Given the description of an element on the screen output the (x, y) to click on. 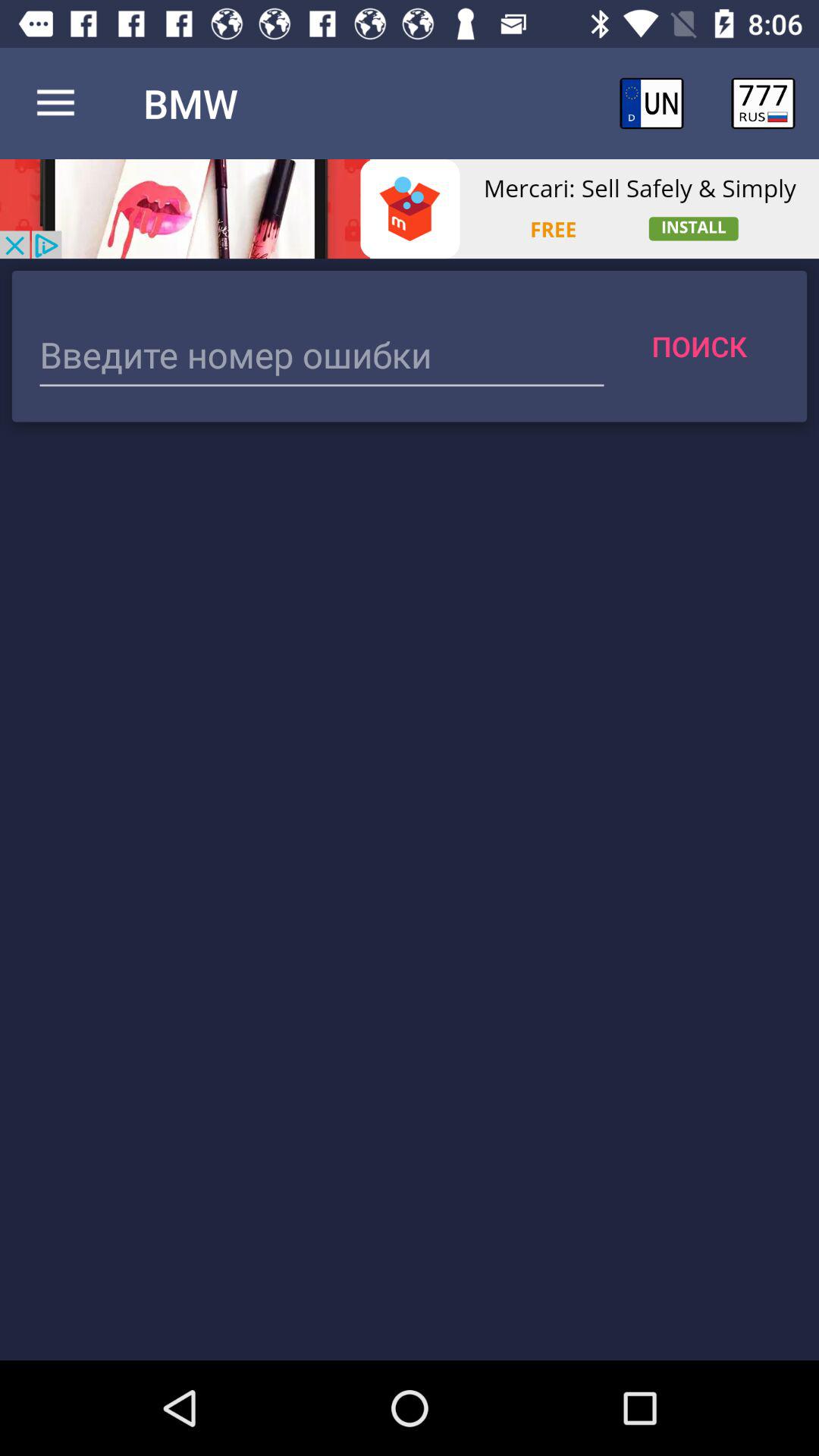
advertisement area (409, 208)
